Given the description of an element on the screen output the (x, y) to click on. 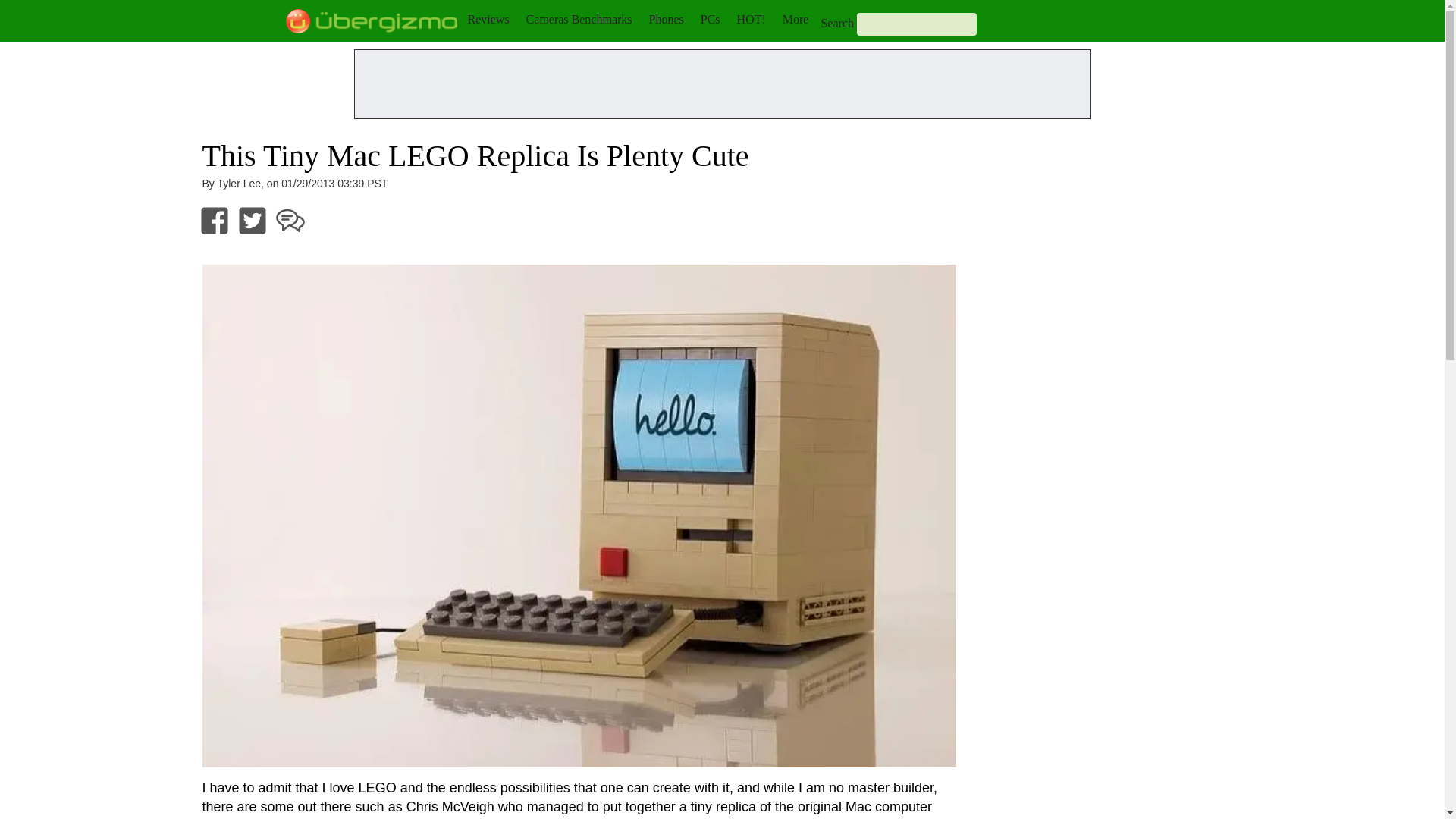
Phones (666, 19)
Cameras Benchmarks (578, 19)
Reviews (487, 19)
PCs (710, 19)
